Given the description of an element on the screen output the (x, y) to click on. 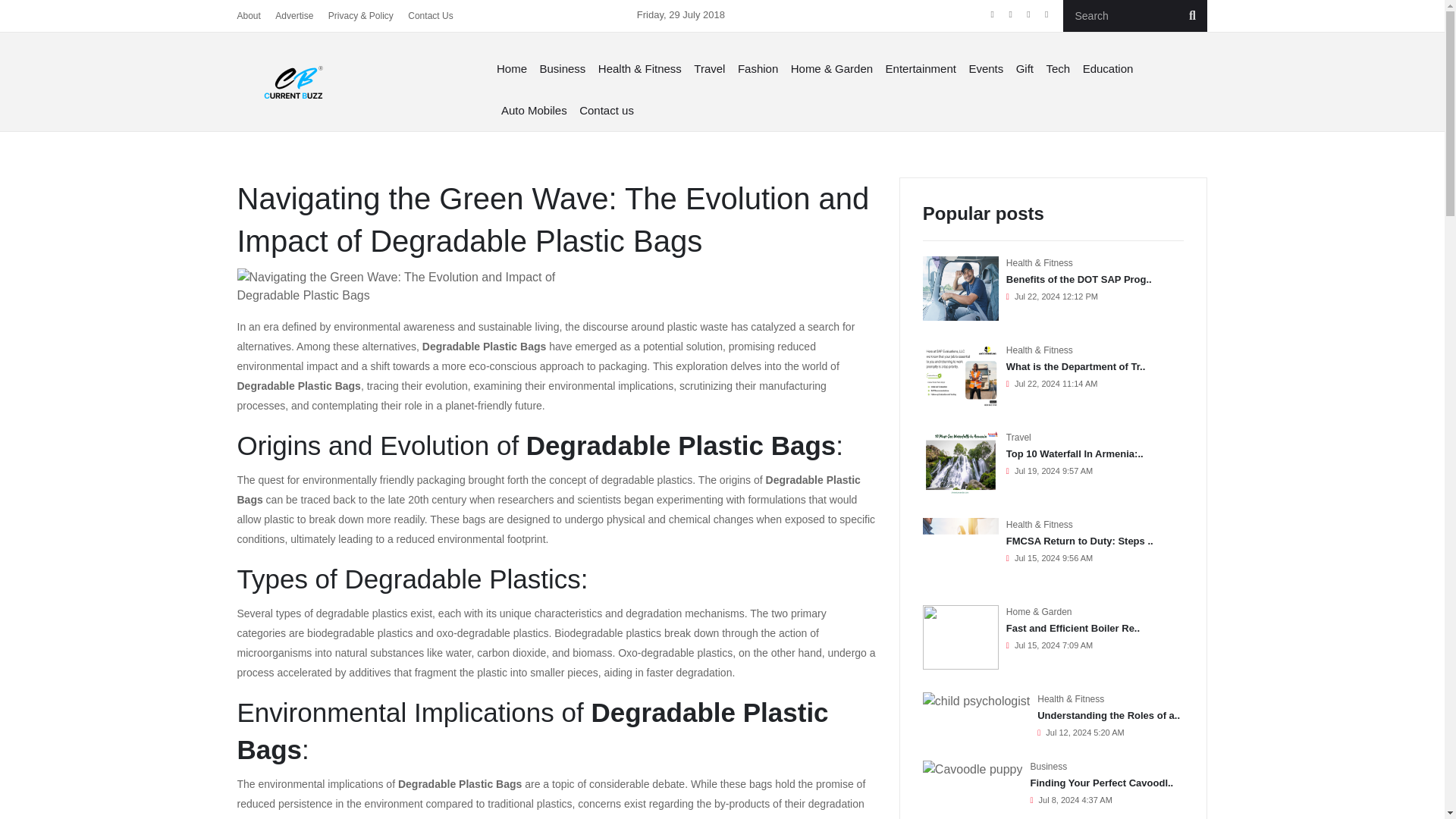
Events (985, 68)
Contact us (607, 110)
Degradable Plastic Bags (547, 490)
About (247, 15)
Gift (1024, 68)
Entertainment (920, 68)
Auto Mobiles (534, 110)
Benefits of the DOT SAP Prog.. (1078, 279)
Contact Us (429, 15)
Business (561, 68)
Home (513, 68)
Travel (708, 68)
Fashion (758, 68)
Advertise (294, 15)
Tech (1058, 68)
